Given the description of an element on the screen output the (x, y) to click on. 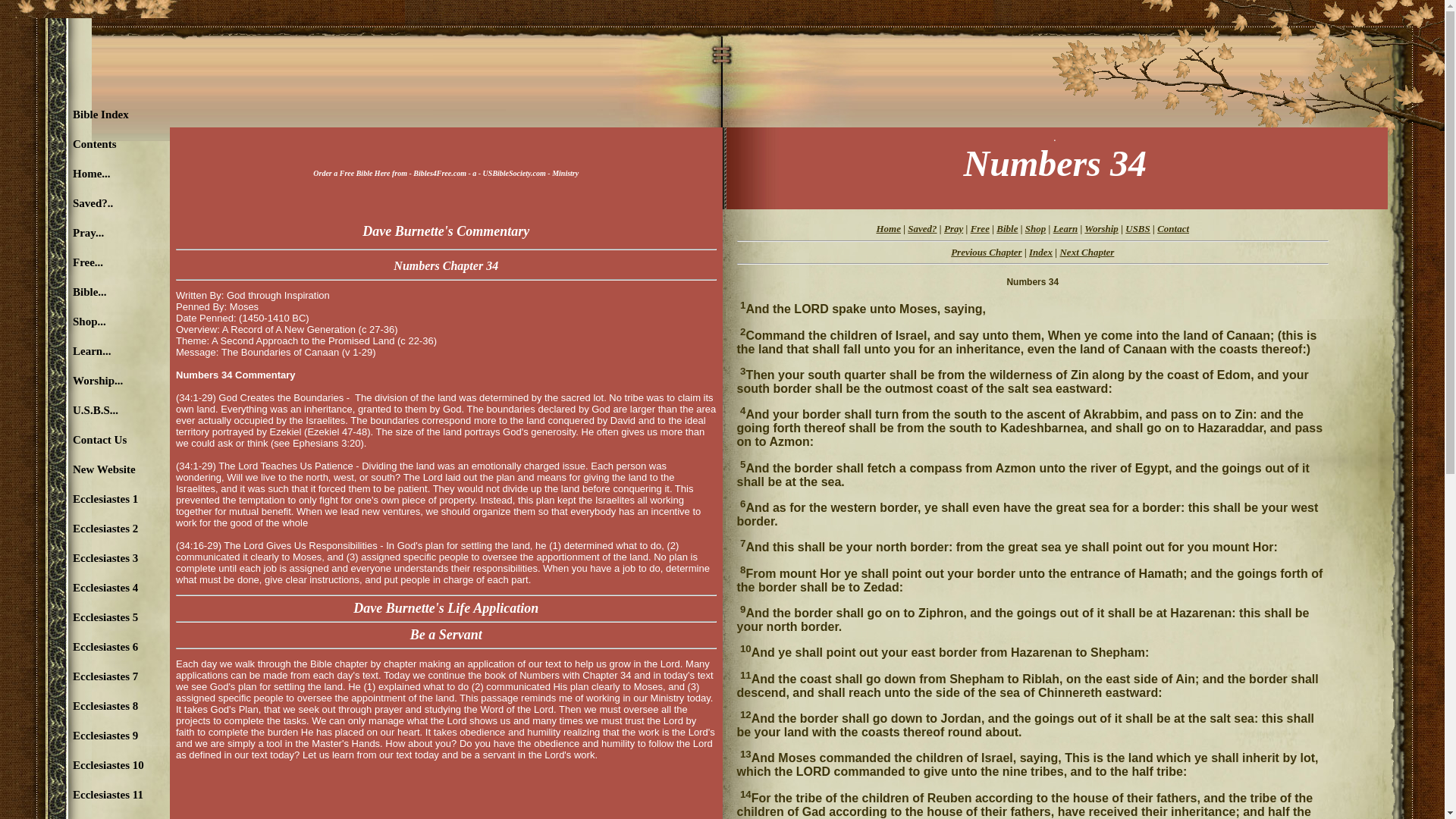
Ecclesiastes 7 (82, 676)
Bible... (82, 292)
Learn... (82, 351)
Home... (82, 173)
Ecclesiastes 11 (82, 794)
Pray... (82, 233)
Ecclesiastes 10 (82, 765)
Bible (1006, 228)
Free... (82, 262)
Saved?.. (82, 203)
